Given the description of an element on the screen output the (x, y) to click on. 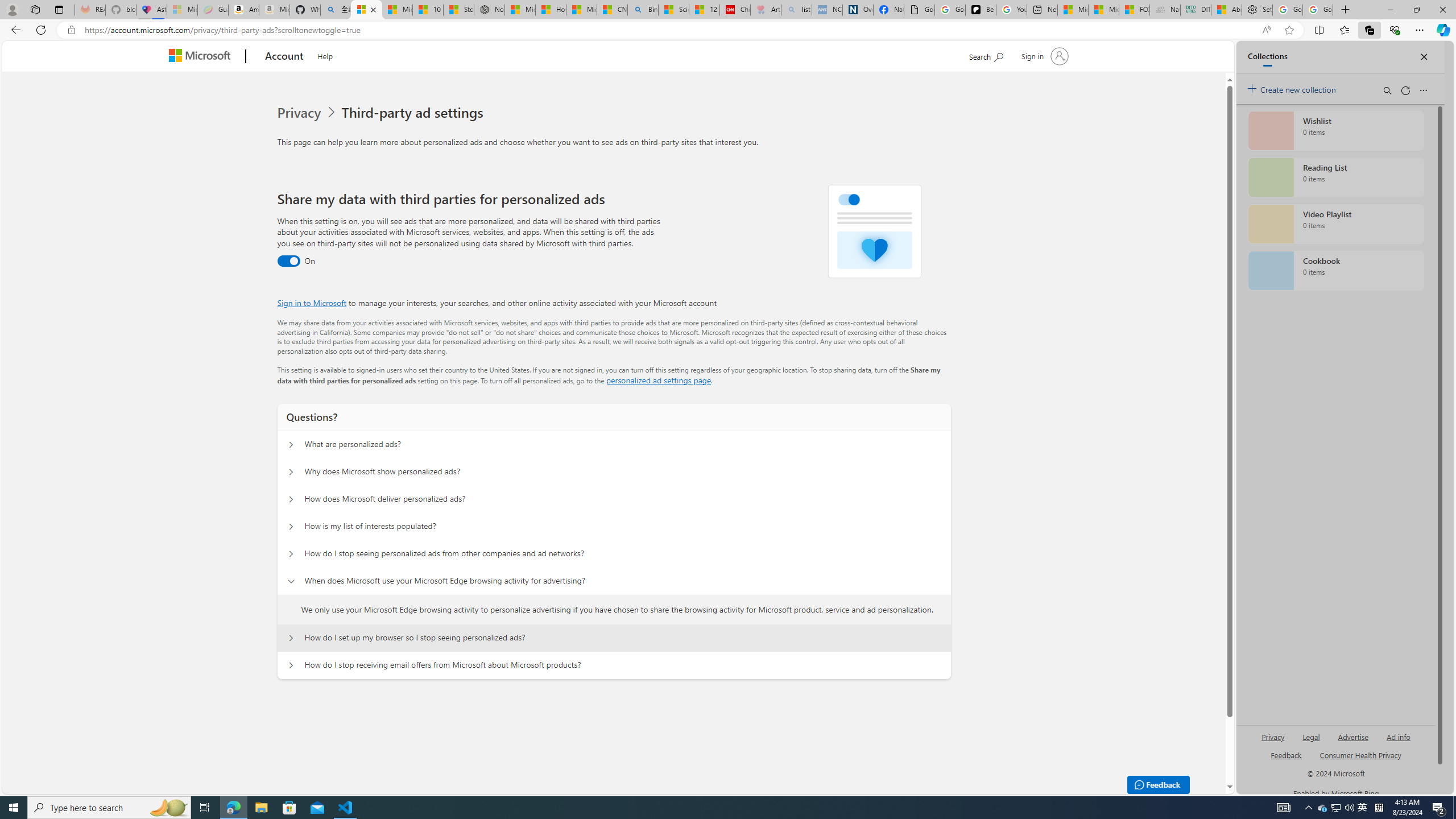
Search Microsoft.com (986, 54)
Sign in to your account (1043, 55)
Account (283, 56)
DITOGAMES AG Imprint (1194, 9)
Questions? How is my list of interests populated? (290, 526)
Microsoft account | Privacy (366, 9)
